Given the description of an element on the screen output the (x, y) to click on. 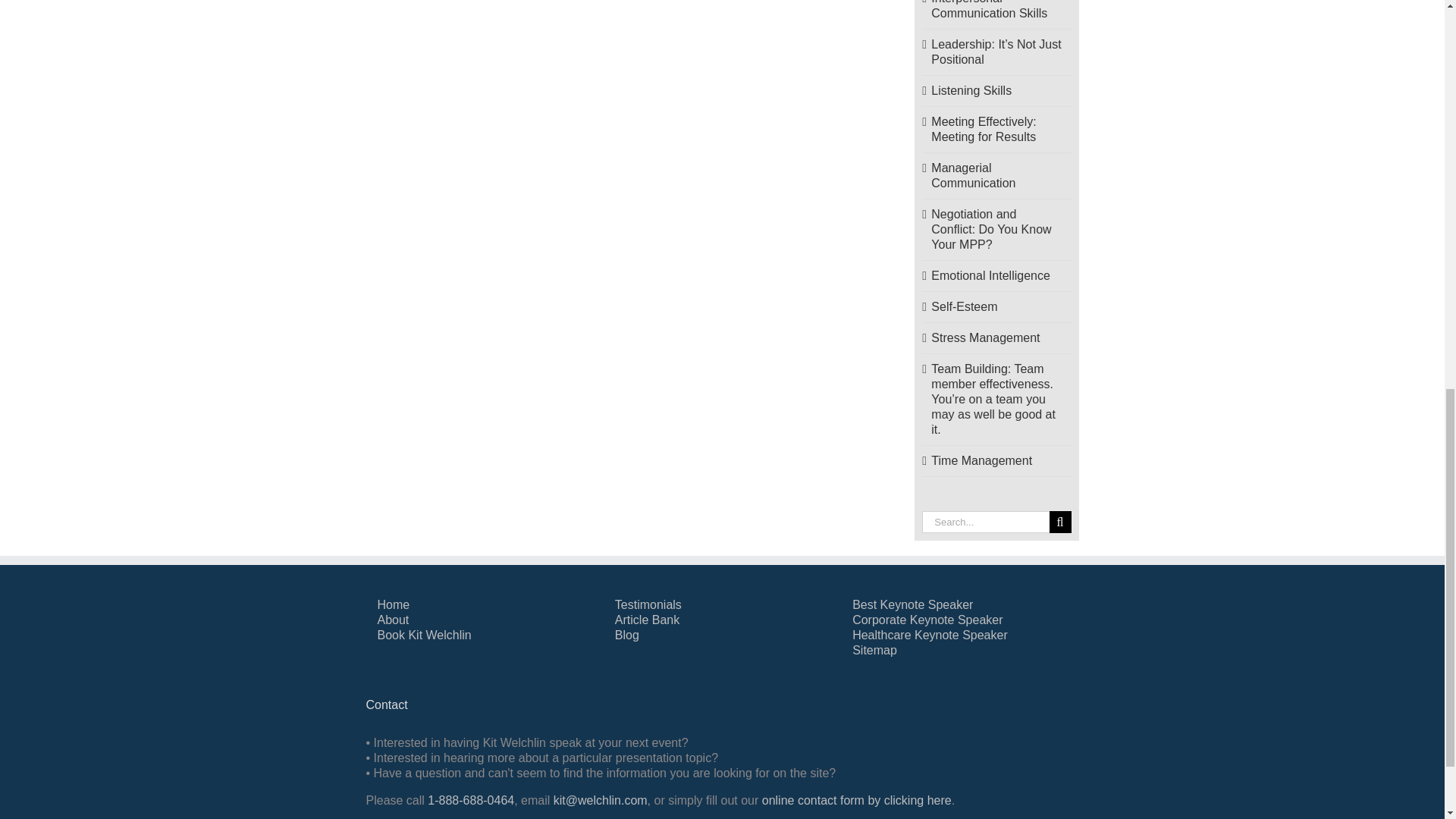
Listening Skills (971, 90)
Interpersonal Communication Skills (988, 9)
Managerial Communication (972, 175)
Meeting Effectively: Meeting for Results (983, 129)
